Given the description of an element on the screen output the (x, y) to click on. 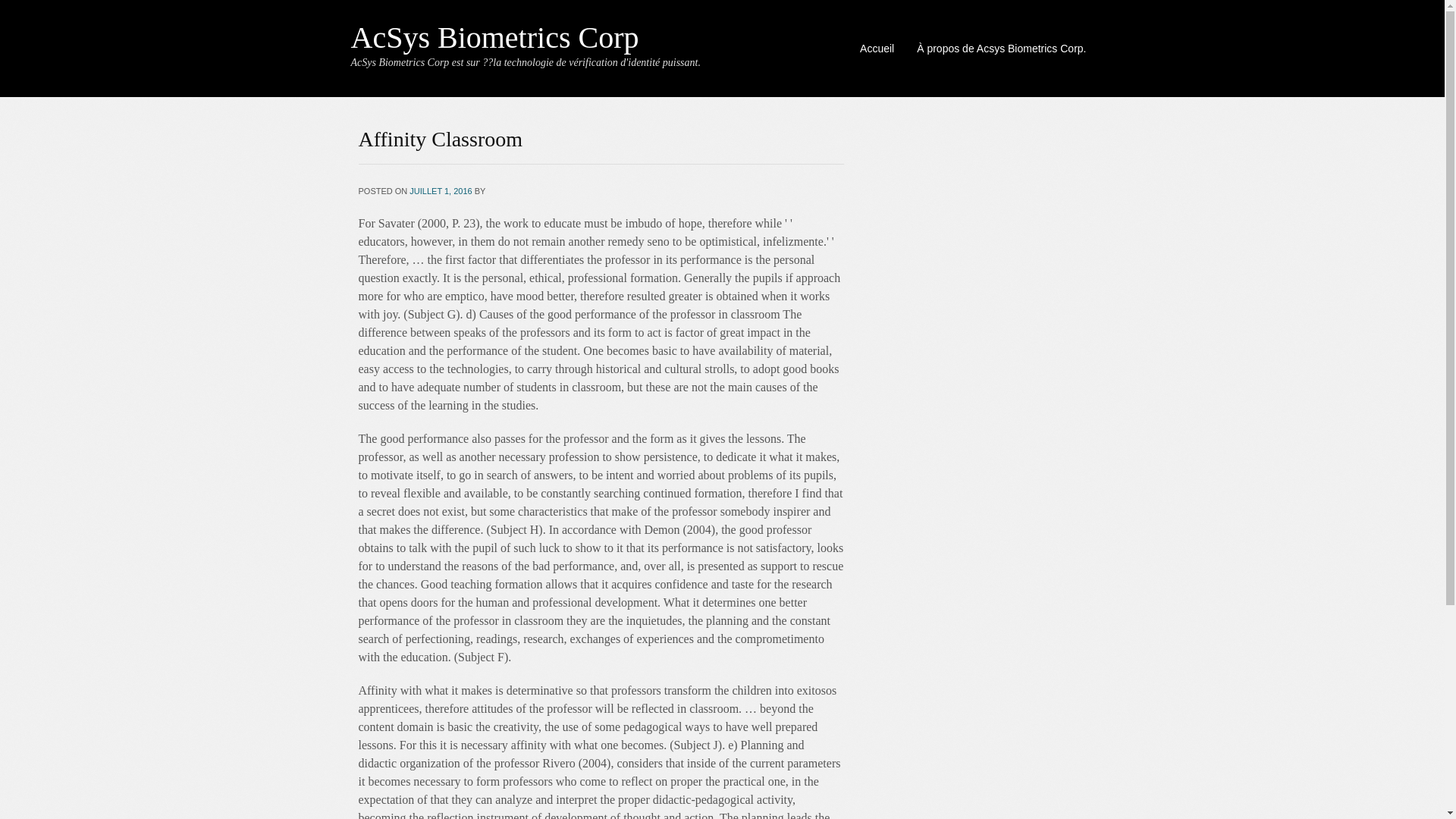
AcSys Biometrics Corp (494, 37)
AcSys Biometrics Corp (494, 37)
Accueil (876, 47)
JUILLET 1, 2016 (440, 190)
